Given the description of an element on the screen output the (x, y) to click on. 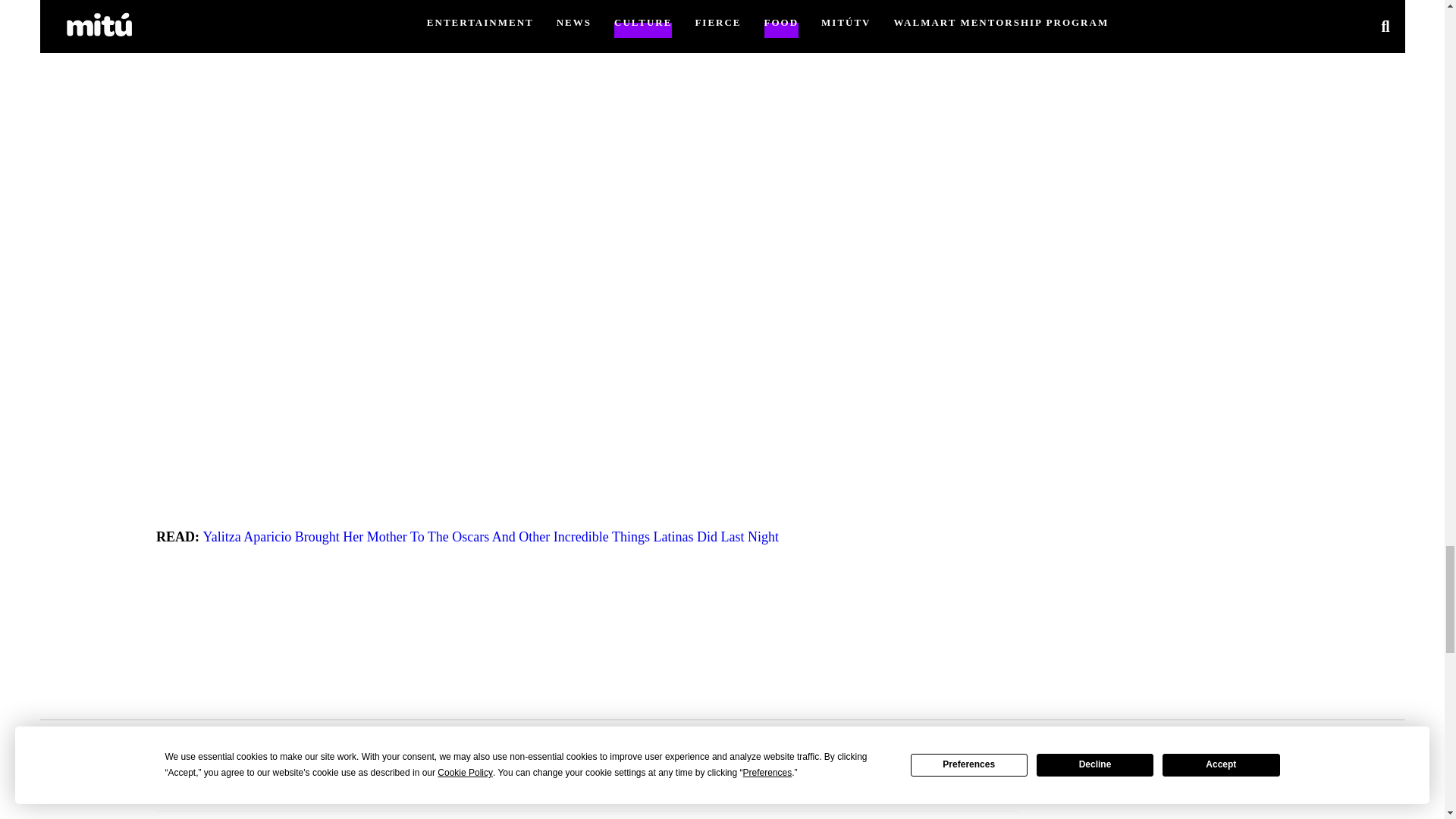
YOUTUBE (743, 791)
FAMILY (461, 791)
FOOD (512, 791)
MOM (555, 791)
VIDEOS (678, 791)
TORTILLA (613, 791)
